Given the description of an element on the screen output the (x, y) to click on. 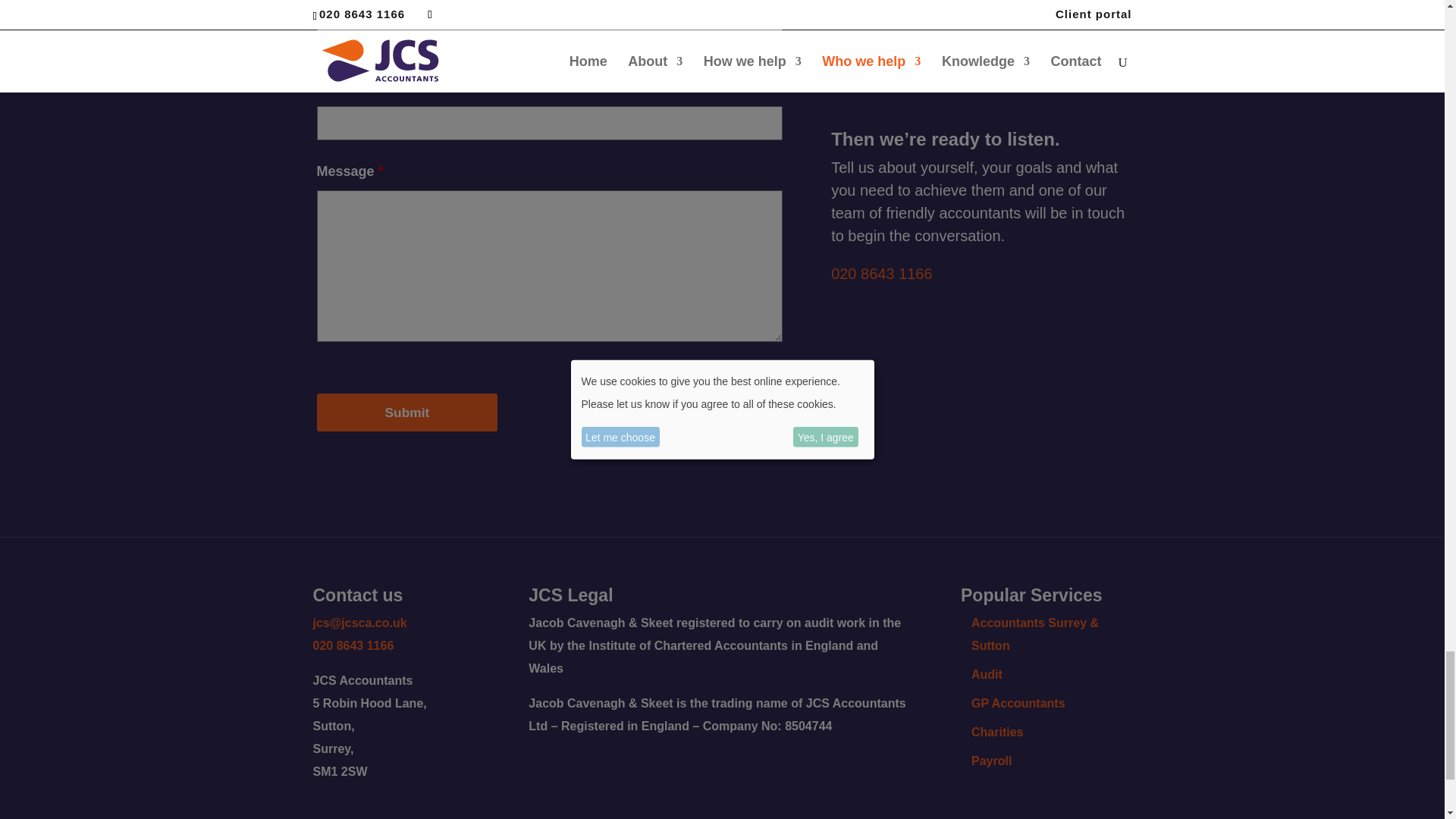
Submit (407, 412)
